Given the description of an element on the screen output the (x, y) to click on. 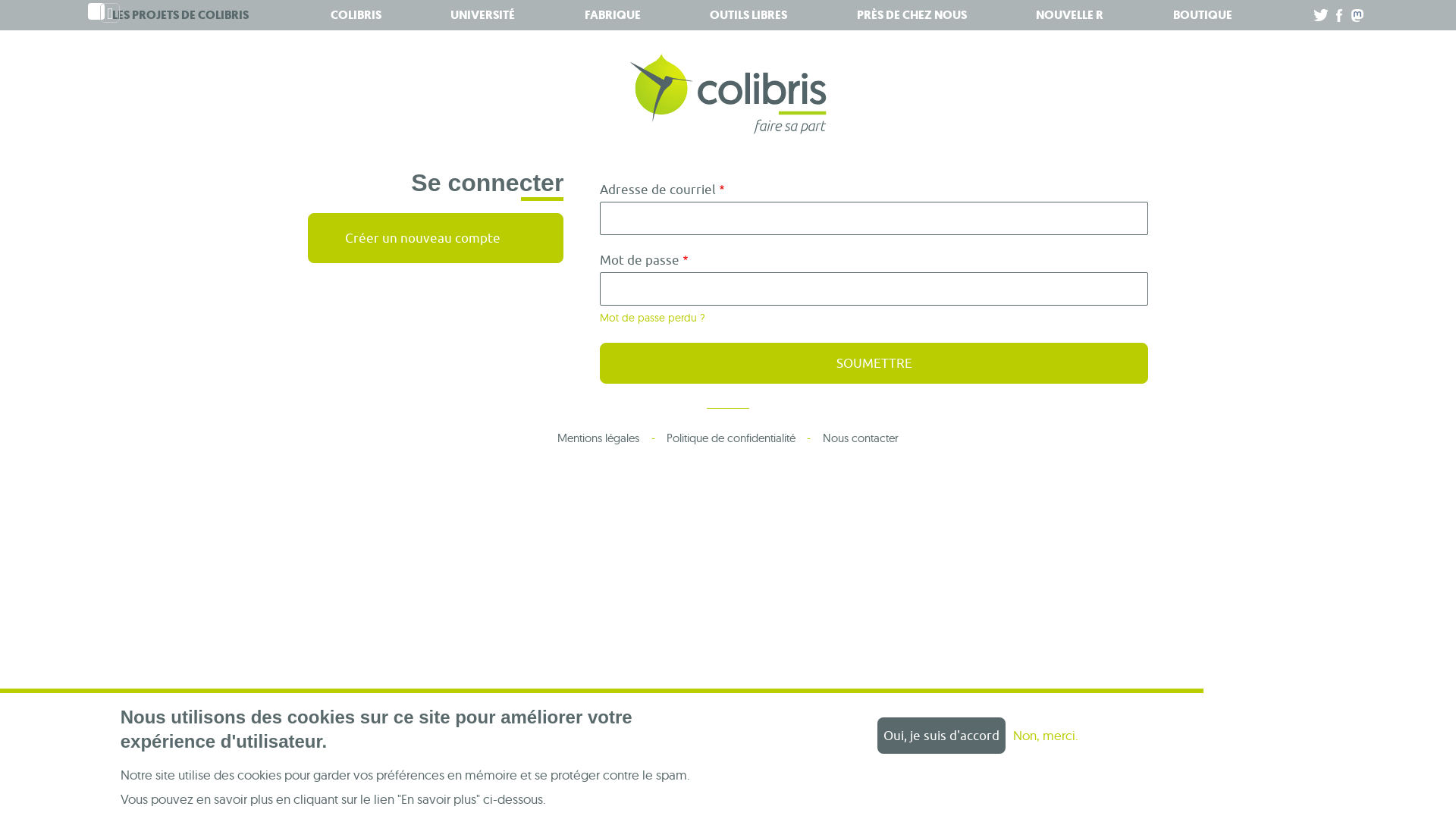
Aller au contenu principal Element type: text (0, 0)
COLIBRIS Element type: text (355, 15)
Nous contacter Element type: text (860, 437)
FABRIQUE Element type: text (611, 15)
. Element type: text (1322, 15)
Mot de passe perdu ? Element type: text (652, 317)
Soumettre Element type: text (873, 362)
OUTILS LIBRES Element type: text (748, 15)
Non, merci. Element type: text (1045, 735)
Oui, je suis d'accord Element type: text (941, 735)
. Element type: text (1358, 15)
. Element type: text (1340, 15)
BOUTIQUE Element type: text (1201, 15)
NOUVELLE R Element type: text (1069, 15)
